Given the description of an element on the screen output the (x, y) to click on. 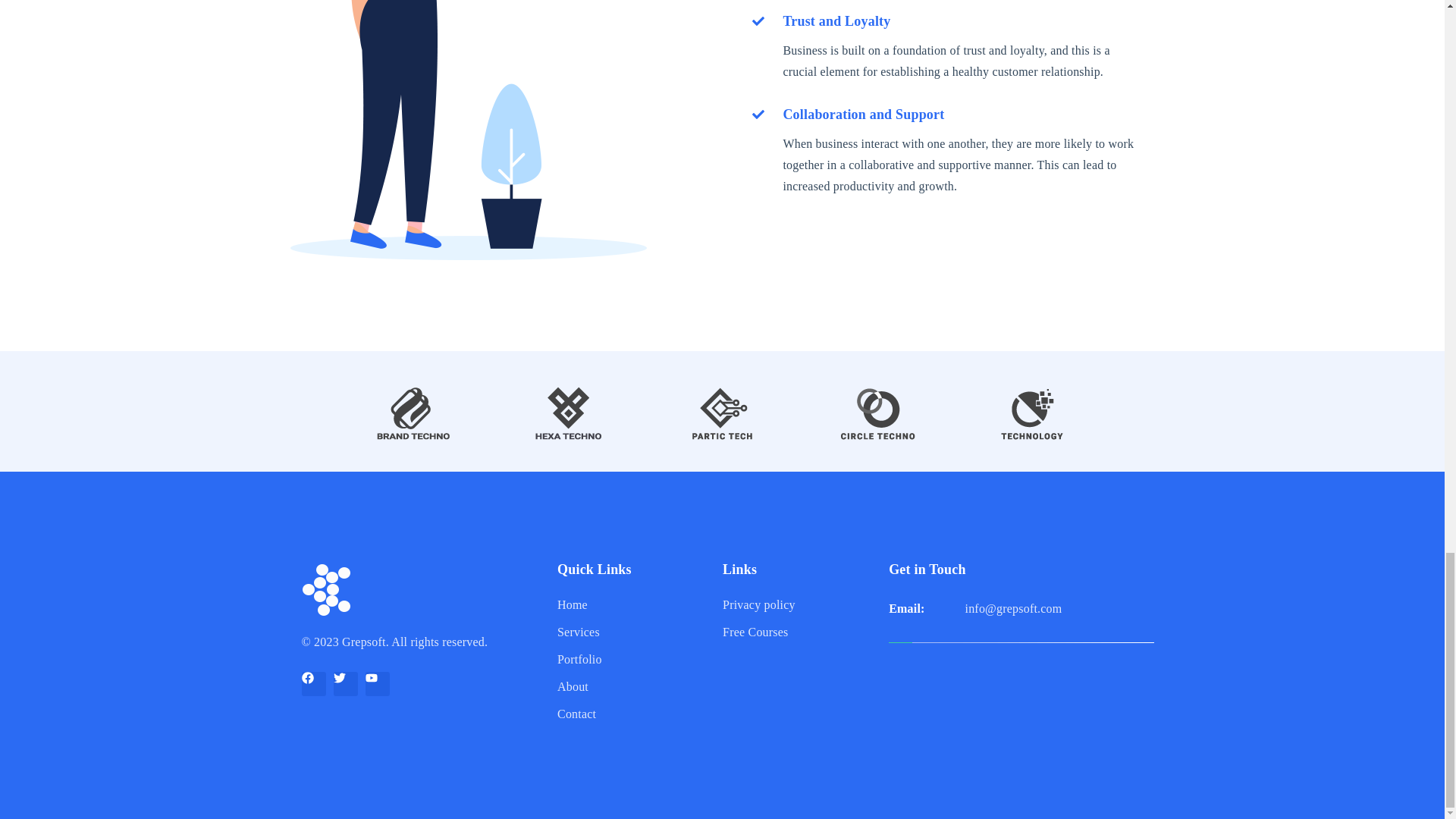
Services (628, 632)
Contact (628, 714)
Portfolio (628, 659)
Free Courses (799, 632)
About (628, 687)
Privacy policy (799, 605)
Home (628, 605)
